Given the description of an element on the screen output the (x, y) to click on. 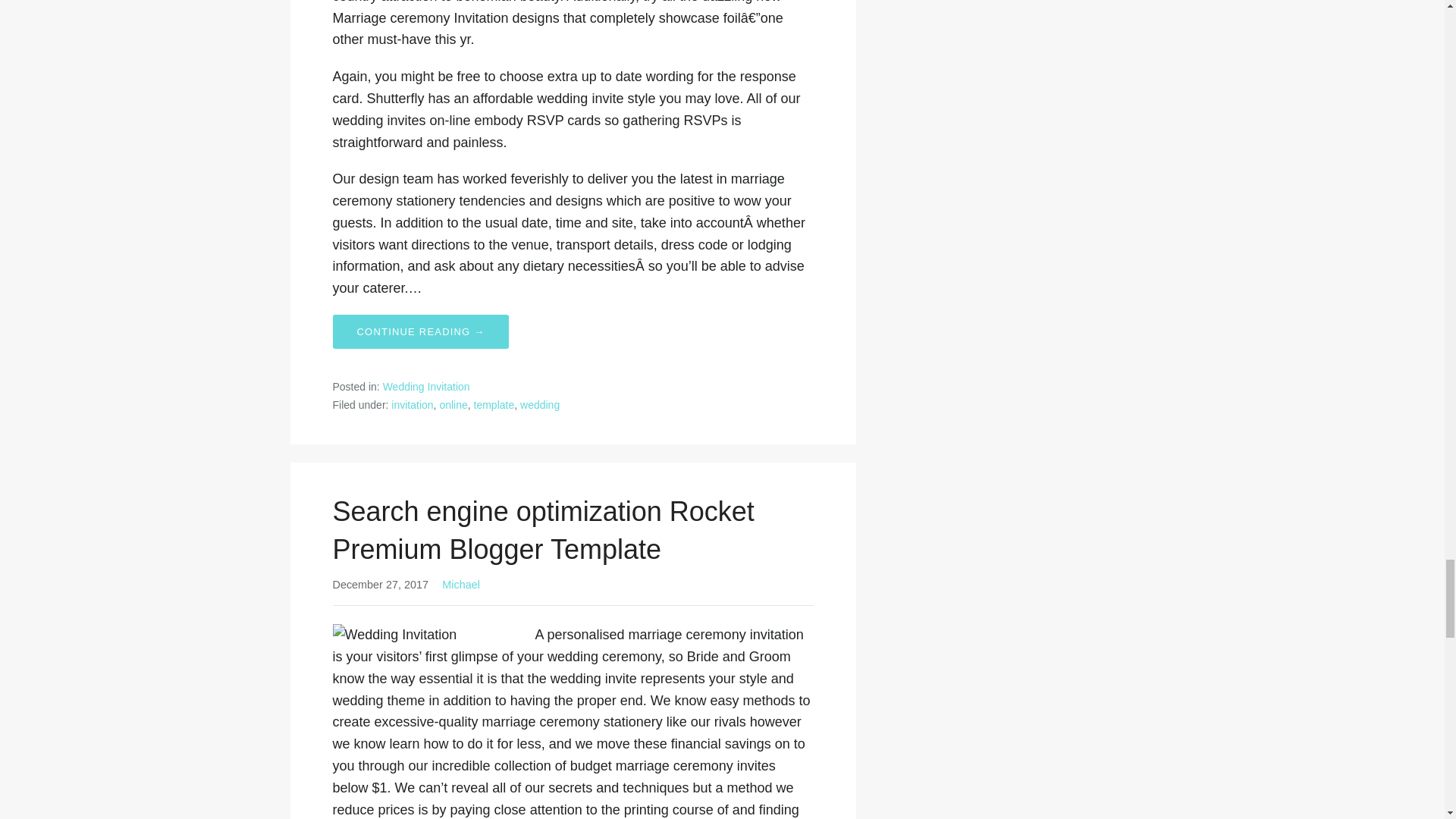
Posts by Michael (461, 584)
